Given the description of an element on the screen output the (x, y) to click on. 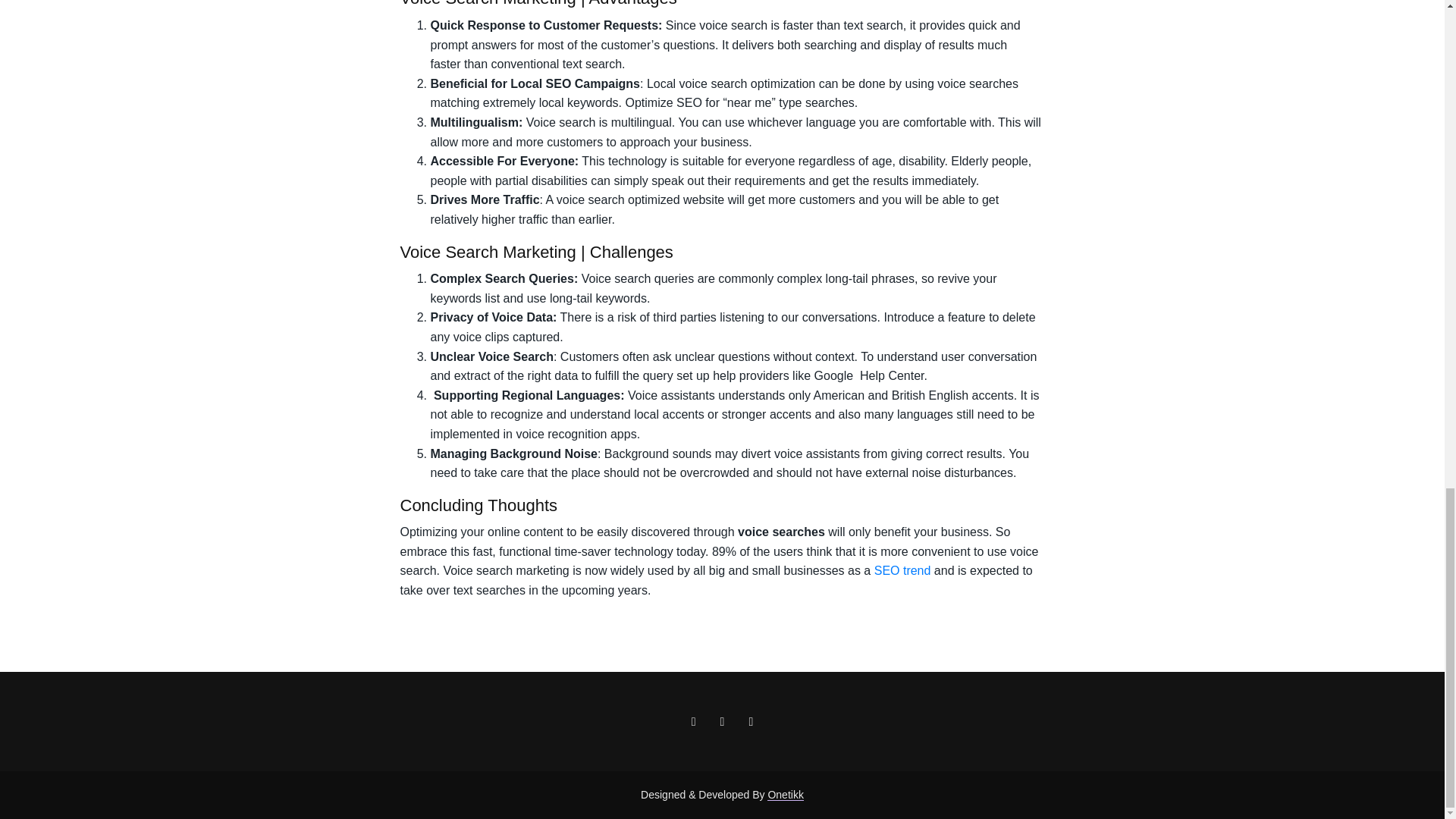
SEO trend (904, 570)
Onetikk (785, 794)
